Given the description of an element on the screen output the (x, y) to click on. 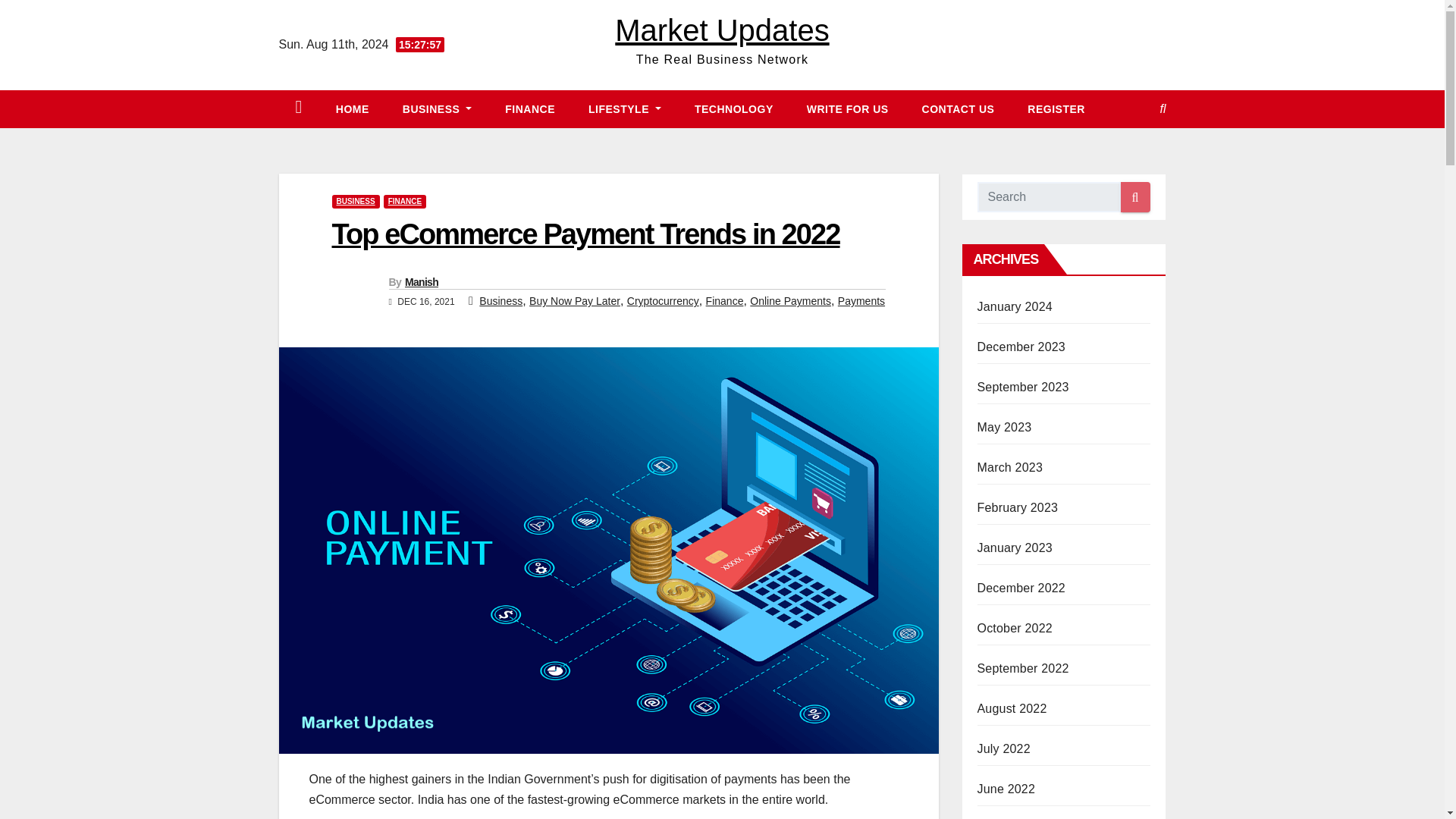
Business (437, 108)
Cryptocurrency (662, 300)
Permalink to: Top eCommerce Payment Trends in 2022 (585, 234)
Contact Us (958, 108)
Buy Now Pay Later (574, 300)
Write For Us (847, 108)
Payments (861, 300)
Register (1056, 108)
HOME (351, 108)
FINANCE (529, 108)
